Given the description of an element on the screen output the (x, y) to click on. 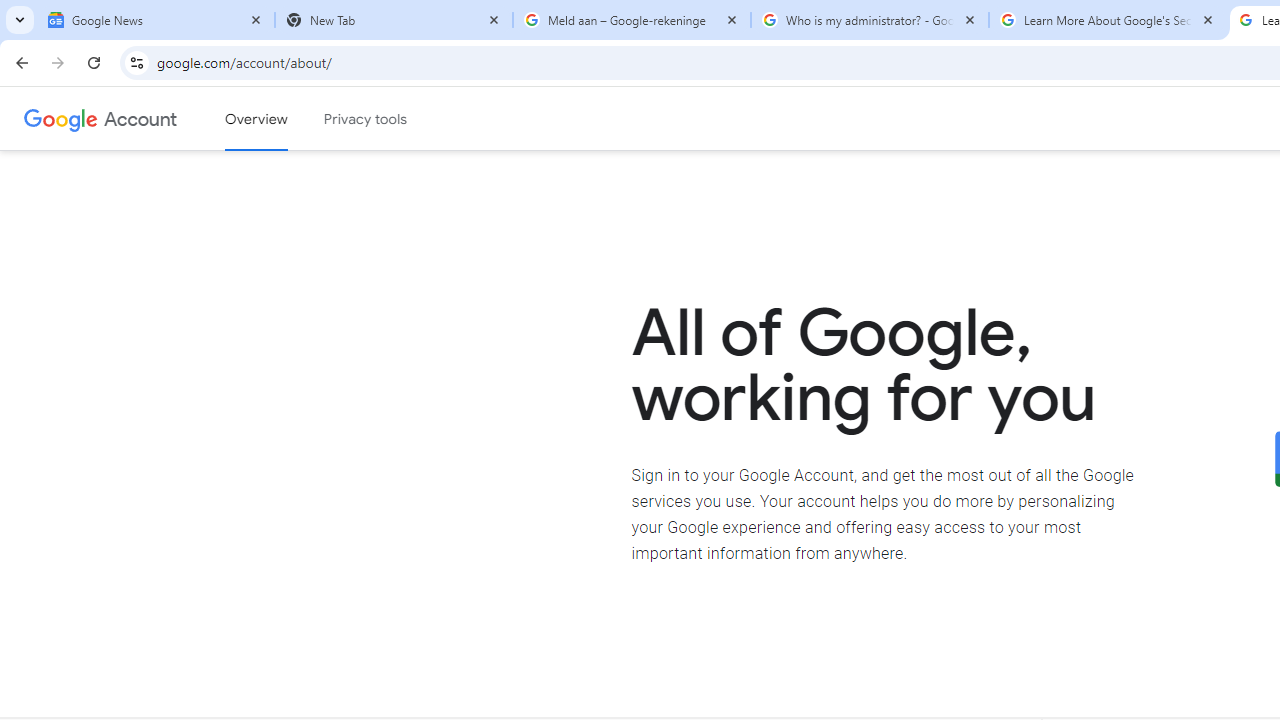
Privacy tools (365, 119)
Google Account overview (256, 119)
Google logo (61, 118)
Google News (156, 20)
New Tab (394, 20)
Google Account (140, 118)
Who is my administrator? - Google Account Help (870, 20)
